Given the description of an element on the screen output the (x, y) to click on. 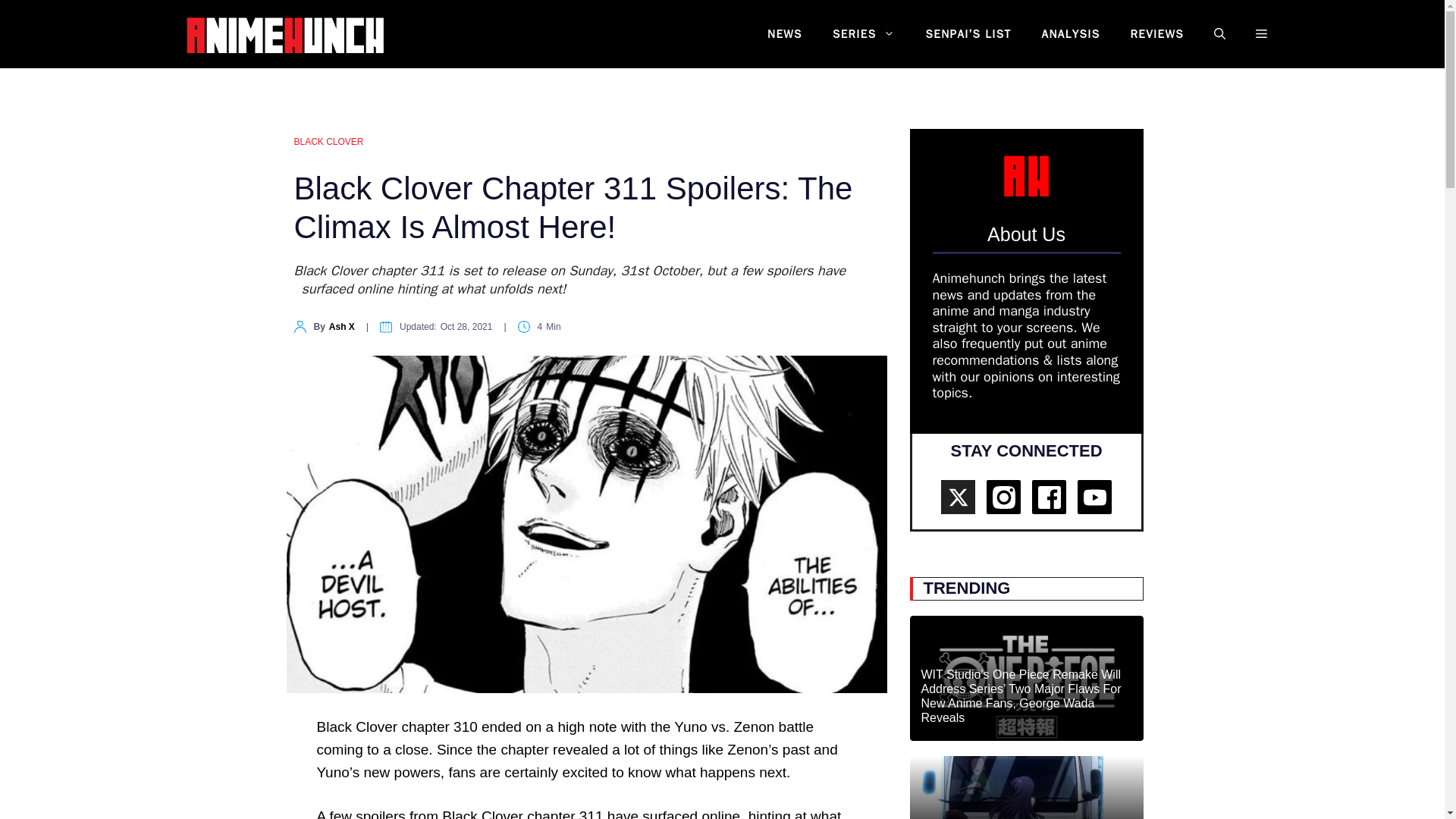
NEWS (784, 34)
ANALYSIS (1070, 34)
SERIES (863, 34)
REVIEWS (1156, 34)
